Given the description of an element on the screen output the (x, y) to click on. 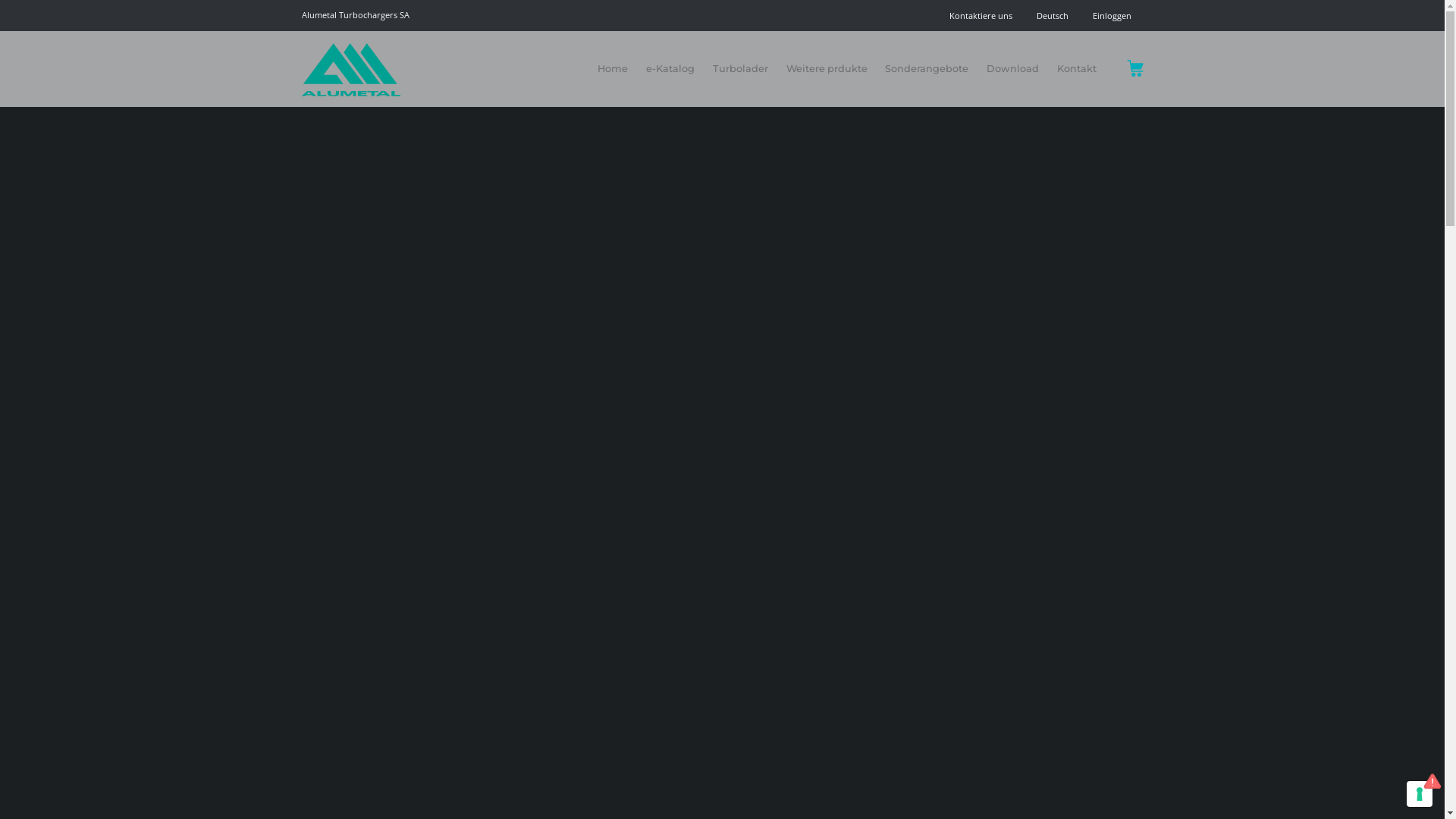
Sonderangebote Element type: text (926, 68)
Deutsch Element type: text (1051, 15)
Kontakt Element type: text (1076, 68)
Einloggen Element type: text (1110, 15)
Home Element type: text (612, 68)
Kontaktiere uns Element type: text (980, 15)
Download Element type: text (1012, 68)
Turbolader Element type: text (740, 68)
Weitere prdukte Element type: text (826, 68)
e-Katalog Element type: text (669, 68)
